Given the description of an element on the screen output the (x, y) to click on. 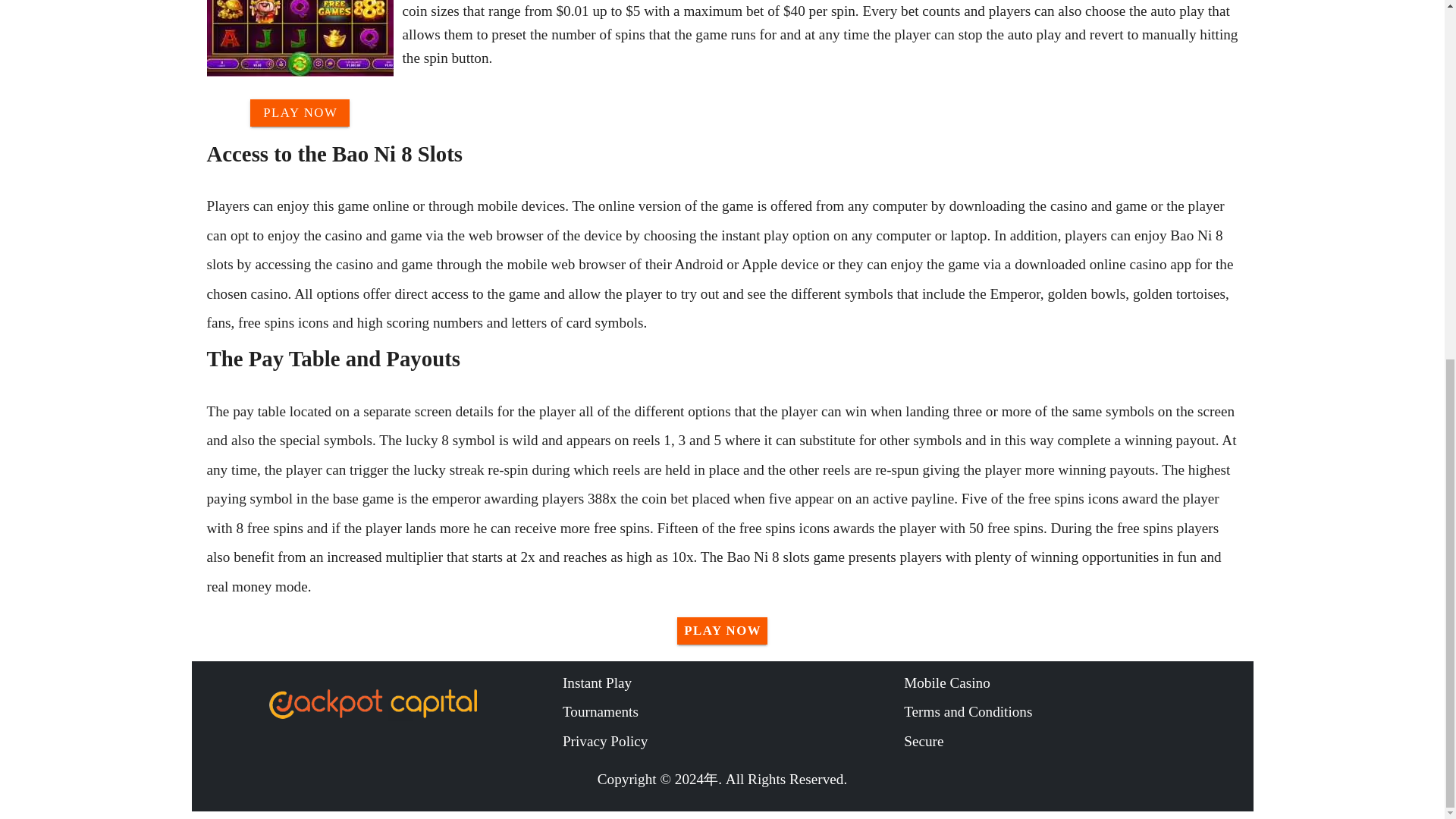
Instant Play (733, 683)
Mobile Casino (1074, 683)
Terms and Conditions (1074, 711)
Secure (1074, 741)
PLAY NOW (722, 630)
Privacy Policy (733, 741)
Tournaments (733, 711)
PLAY NOW (300, 112)
